Given the description of an element on the screen output the (x, y) to click on. 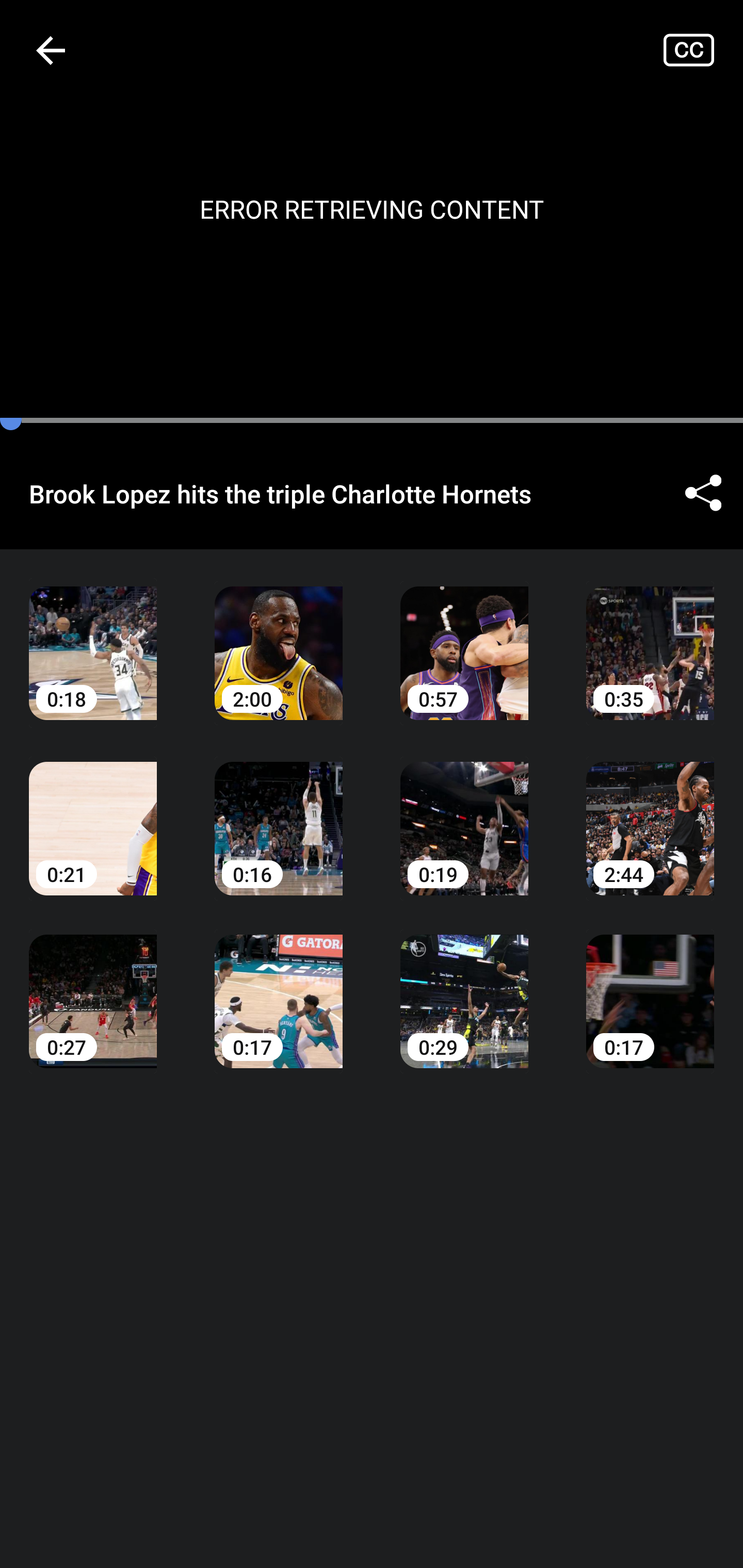
Navigate up (50, 50)
Closed captions  (703, 49)
Share © (703, 493)
0:18 (92, 637)
2:00 (278, 637)
0:57 (464, 637)
0:35 (650, 637)
0:21 (92, 813)
0:16 (278, 813)
0:19 (464, 813)
2:44 (650, 813)
0:27 (92, 987)
0:17 (278, 987)
0:29 (464, 987)
0:17 (650, 987)
